Given the description of an element on the screen output the (x, y) to click on. 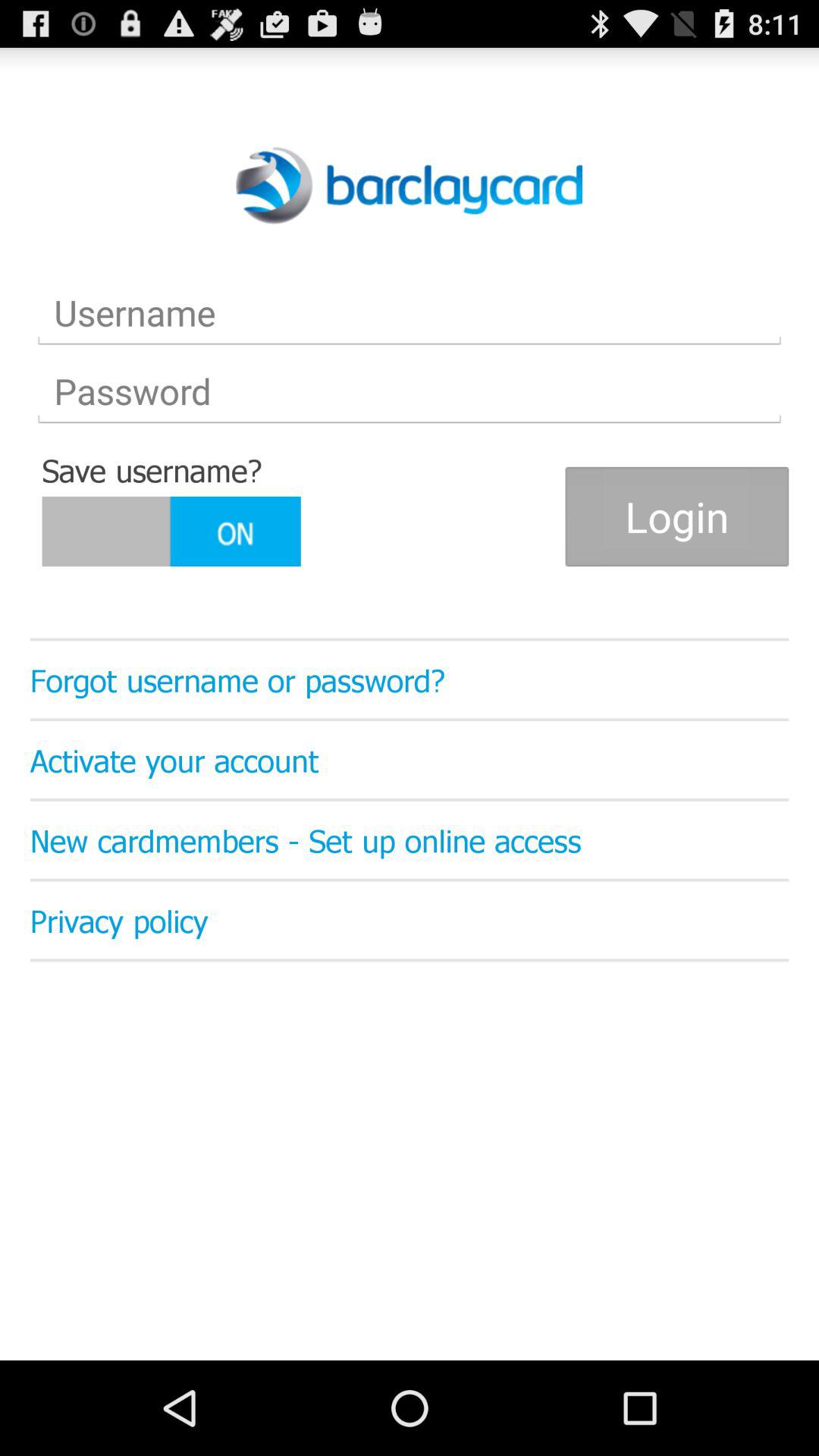
open forgot username or item (409, 679)
